Given the description of an element on the screen output the (x, y) to click on. 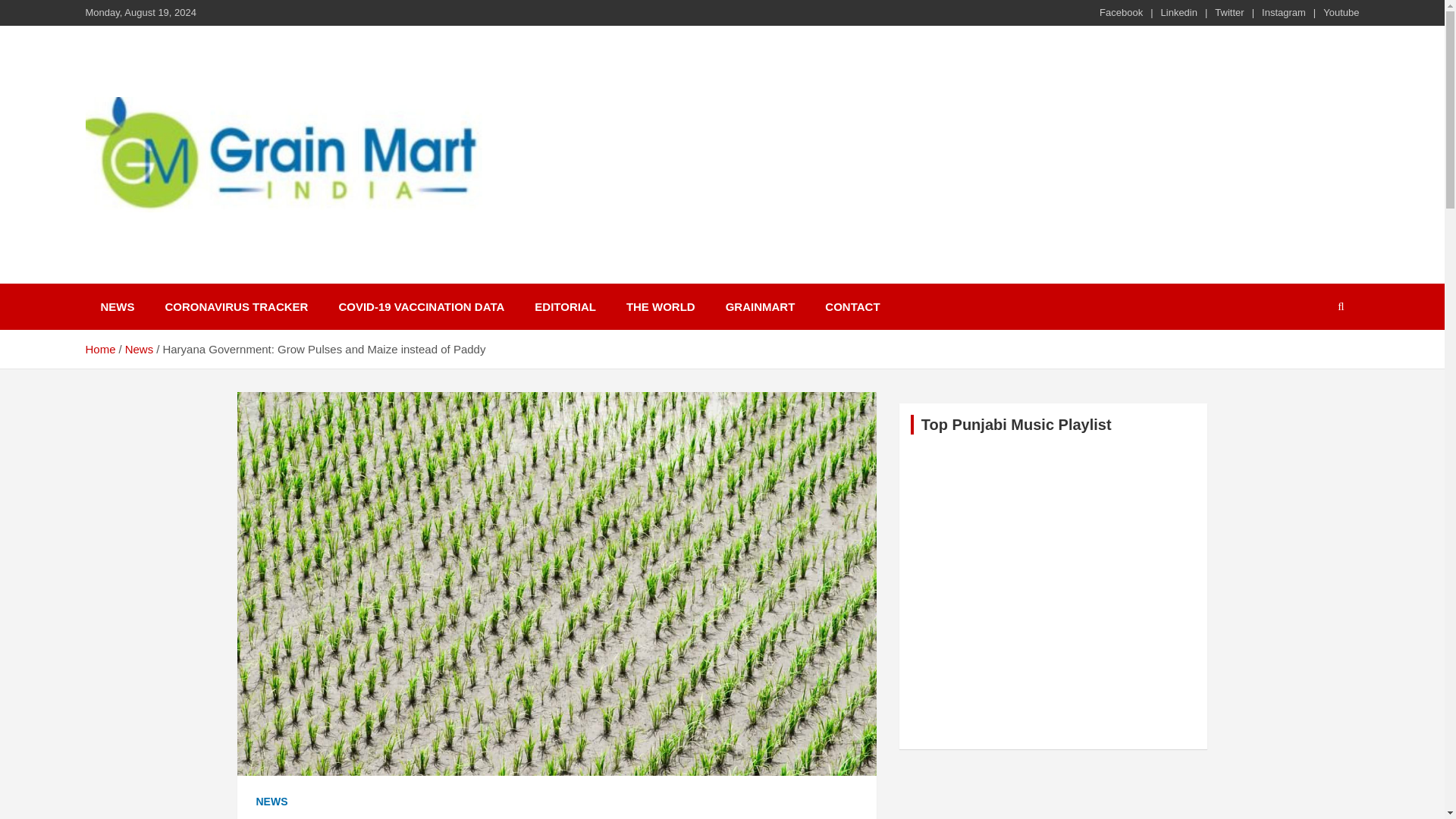
Home (99, 349)
Twitter (1228, 12)
Instagram (1284, 12)
NEWS (116, 306)
CONTACT (852, 306)
Facebook (1120, 12)
THE WORLD (660, 306)
News (139, 349)
Grainmart News (200, 231)
